Given the description of an element on the screen output the (x, y) to click on. 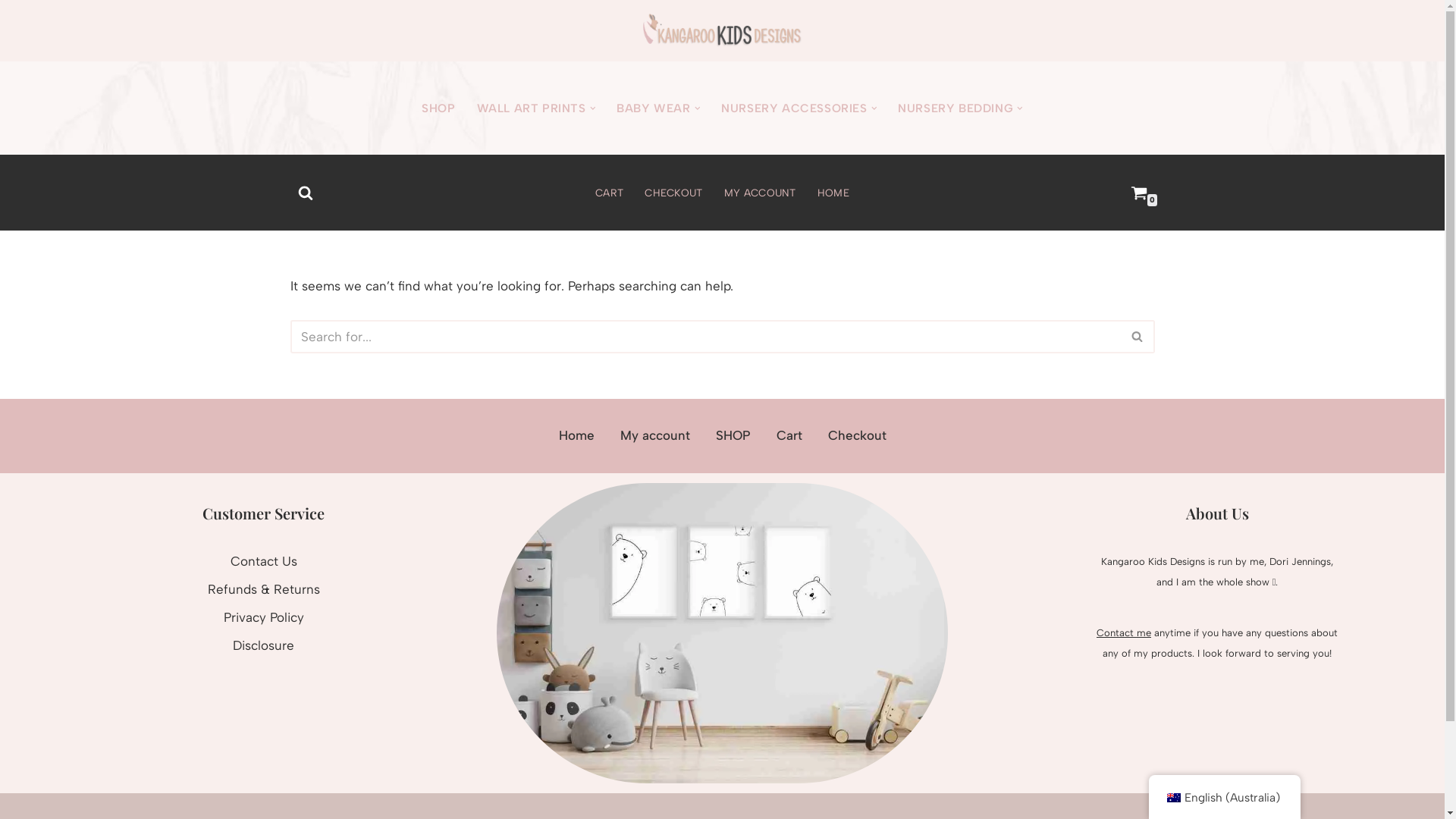
Privacy Policy Element type: text (262, 616)
Refunds & Returns Element type: text (263, 588)
MY ACCOUNT Element type: text (760, 192)
0 Element type: text (1137, 192)
Home Element type: text (575, 435)
Contact me Element type: text (1123, 632)
English (Australia) Element type: hover (1172, 797)
Contact Us Element type: text (263, 560)
Cart Element type: text (789, 435)
Checkout Element type: text (857, 435)
SHOP Element type: text (732, 435)
Disclosure Element type: text (263, 644)
WALL ART PRINTS Element type: text (531, 107)
CHECKOUT Element type: text (673, 192)
NURSERY ACCESSORIES Element type: text (793, 107)
My account Element type: text (655, 435)
SHOP Element type: text (438, 107)
English (Australia) Element type: text (1223, 797)
Skip to content Element type: text (11, 31)
BABY WEAR Element type: text (653, 107)
CART Element type: text (609, 192)
HOME Element type: text (833, 192)
NURSERY BEDDING Element type: text (955, 107)
